Given the description of an element on the screen output the (x, y) to click on. 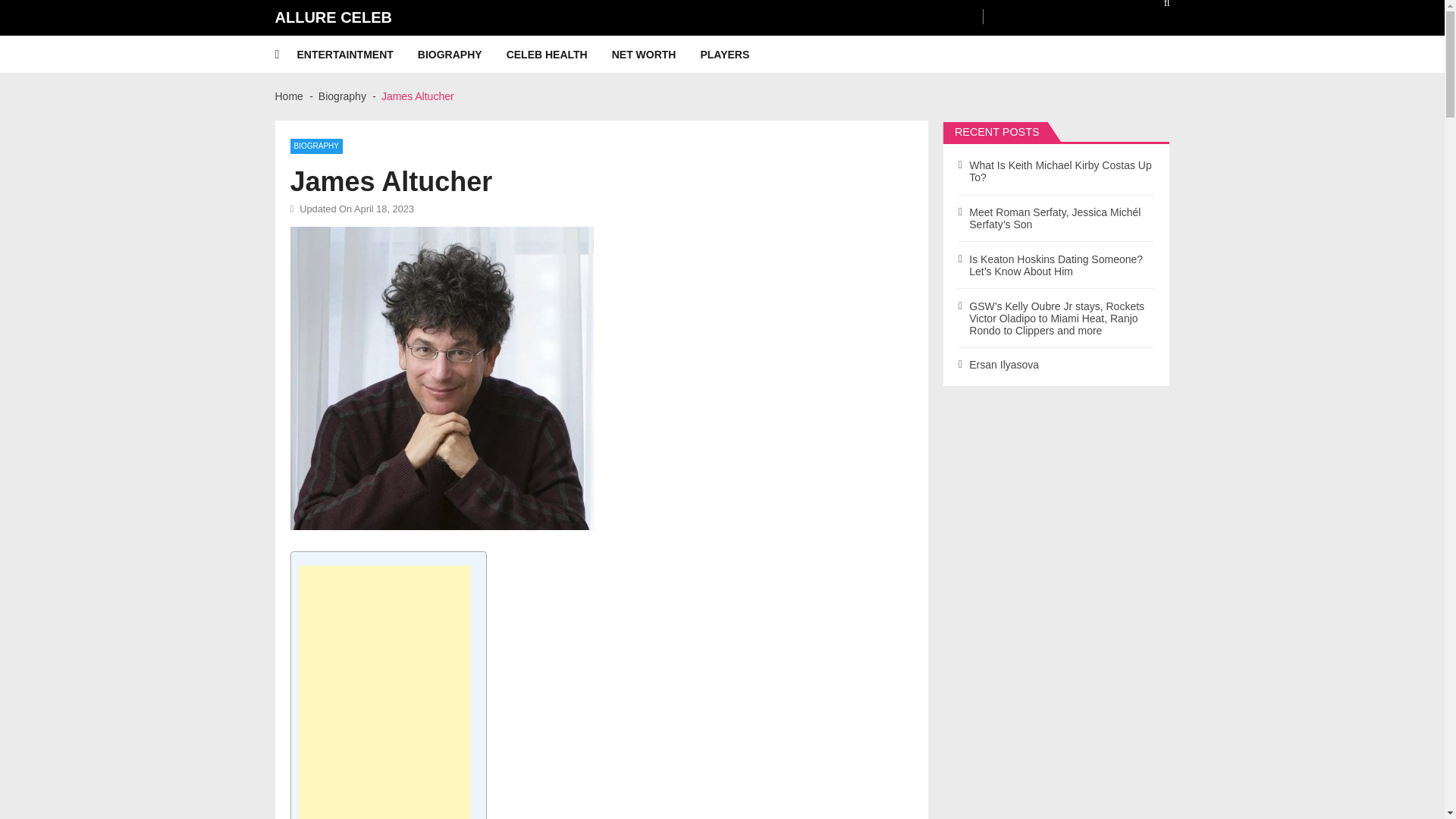
Home (288, 96)
Search (1156, 7)
ALLURE CELEB (333, 17)
Biography (342, 96)
BIOGRAPHY (461, 54)
CELEB HEALTH (558, 54)
BIOGRAPHY (315, 145)
Search (1156, 7)
PLAYERS (736, 54)
Search (1156, 7)
